Given the description of an element on the screen output the (x, y) to click on. 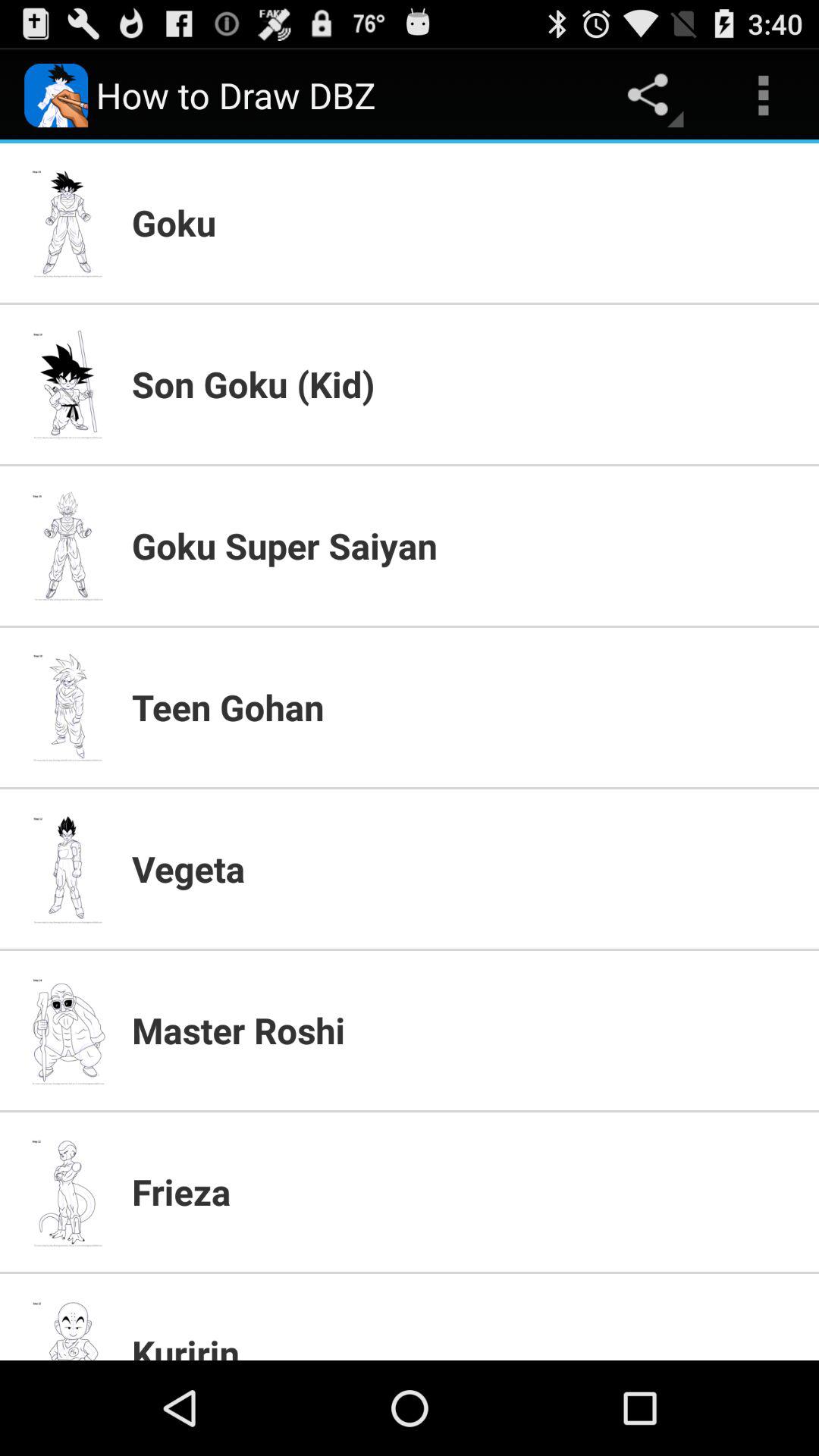
press the app below the frieza (465, 1344)
